Given the description of an element on the screen output the (x, y) to click on. 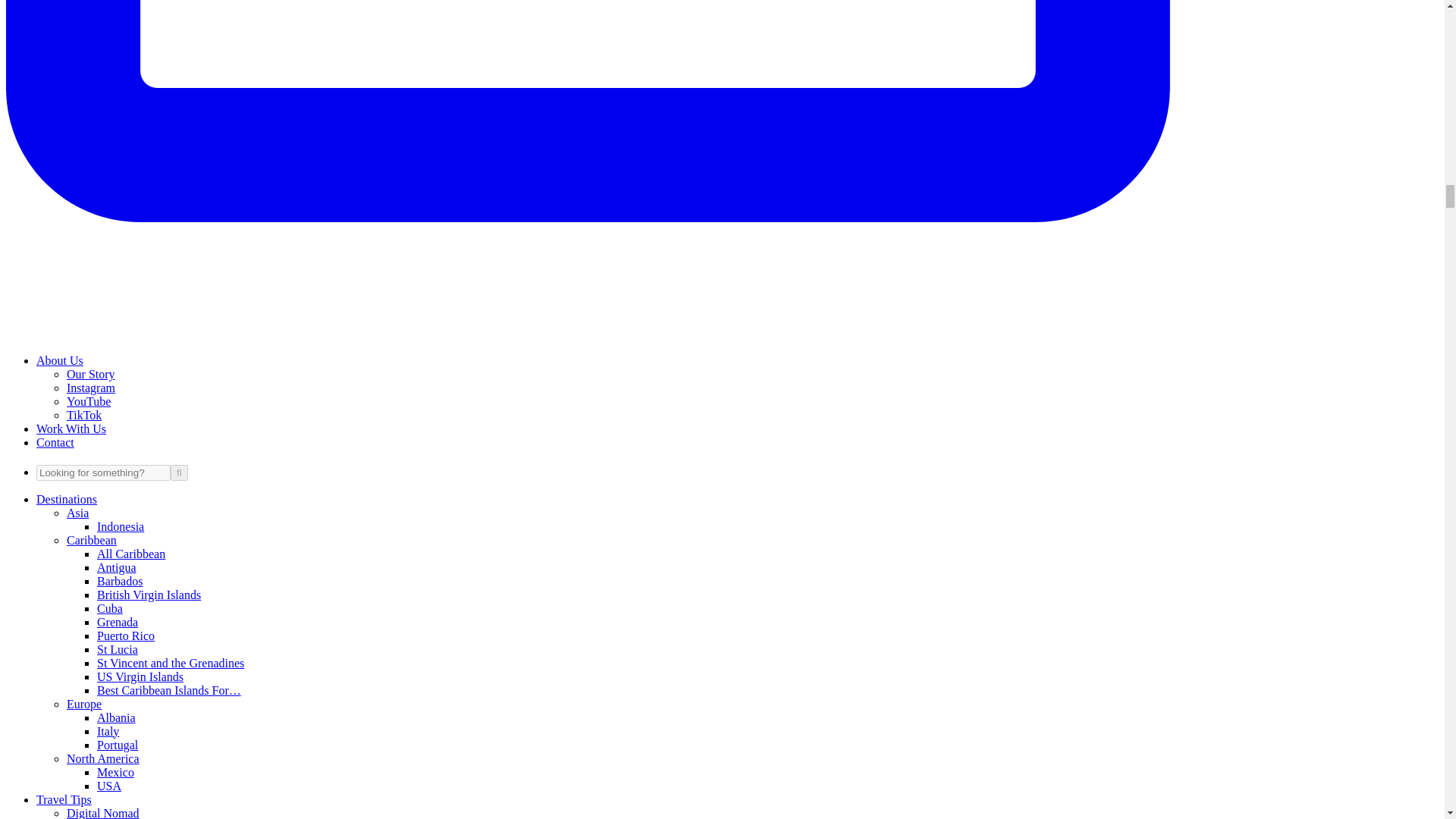
About Us (59, 359)
British Virgin Islands (148, 594)
Work With Us (71, 428)
St Lucia (117, 649)
Our Story (90, 373)
Albania (116, 717)
Europe (83, 703)
Italy (108, 730)
Cuba (109, 608)
Destinations (66, 499)
